Given the description of an element on the screen output the (x, y) to click on. 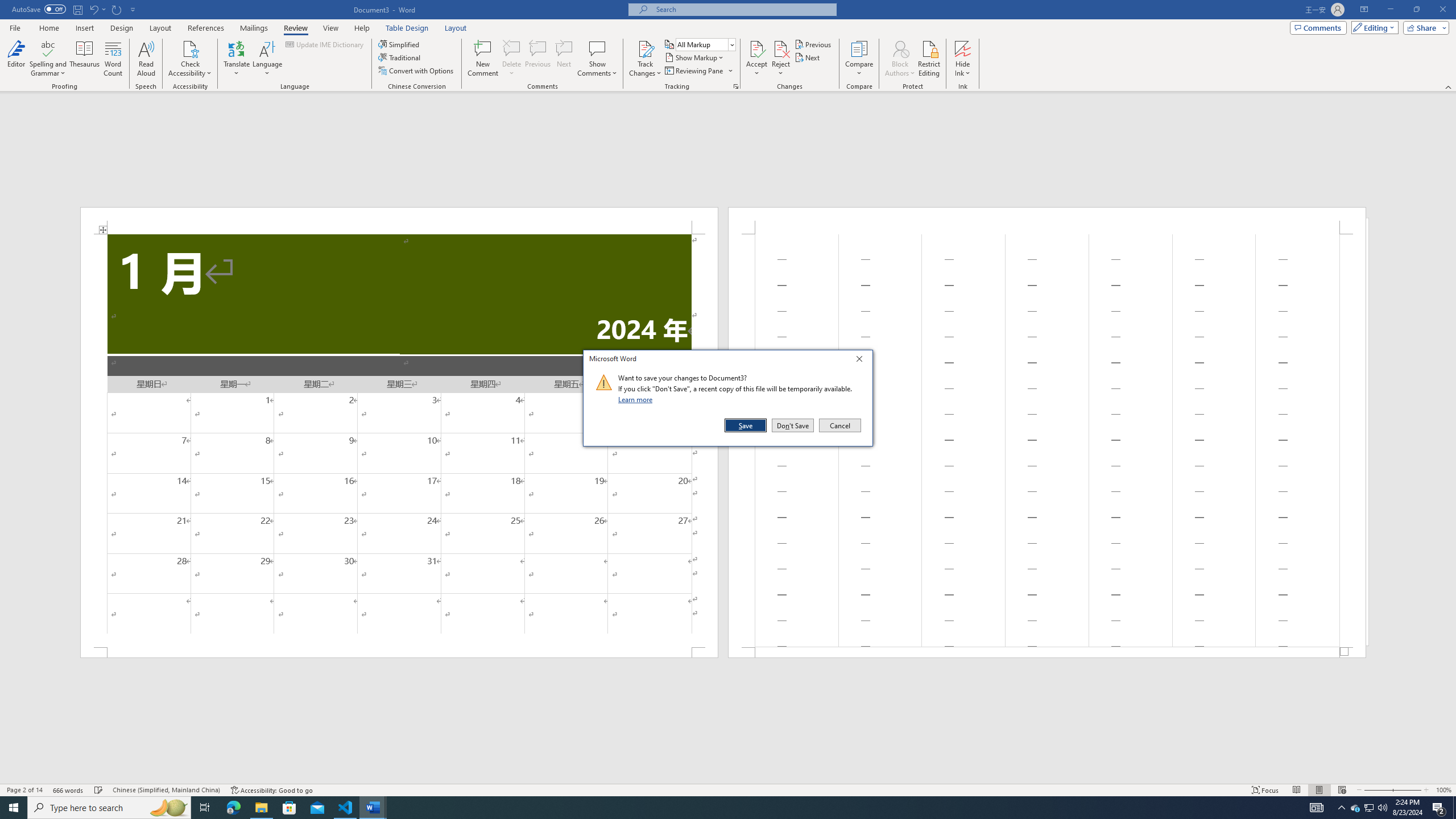
Traditional (400, 56)
Notification Chevron (1341, 807)
Word Count 666 words (68, 790)
Next (808, 56)
Language Chinese (Simplified, Mainland China) (165, 790)
Q2790: 100% (1382, 807)
Check Accessibility (189, 48)
Accept and Move to Next (756, 48)
File Explorer - 1 running window (261, 807)
Hide Ink (962, 48)
Start (13, 807)
